Given the description of an element on the screen output the (x, y) to click on. 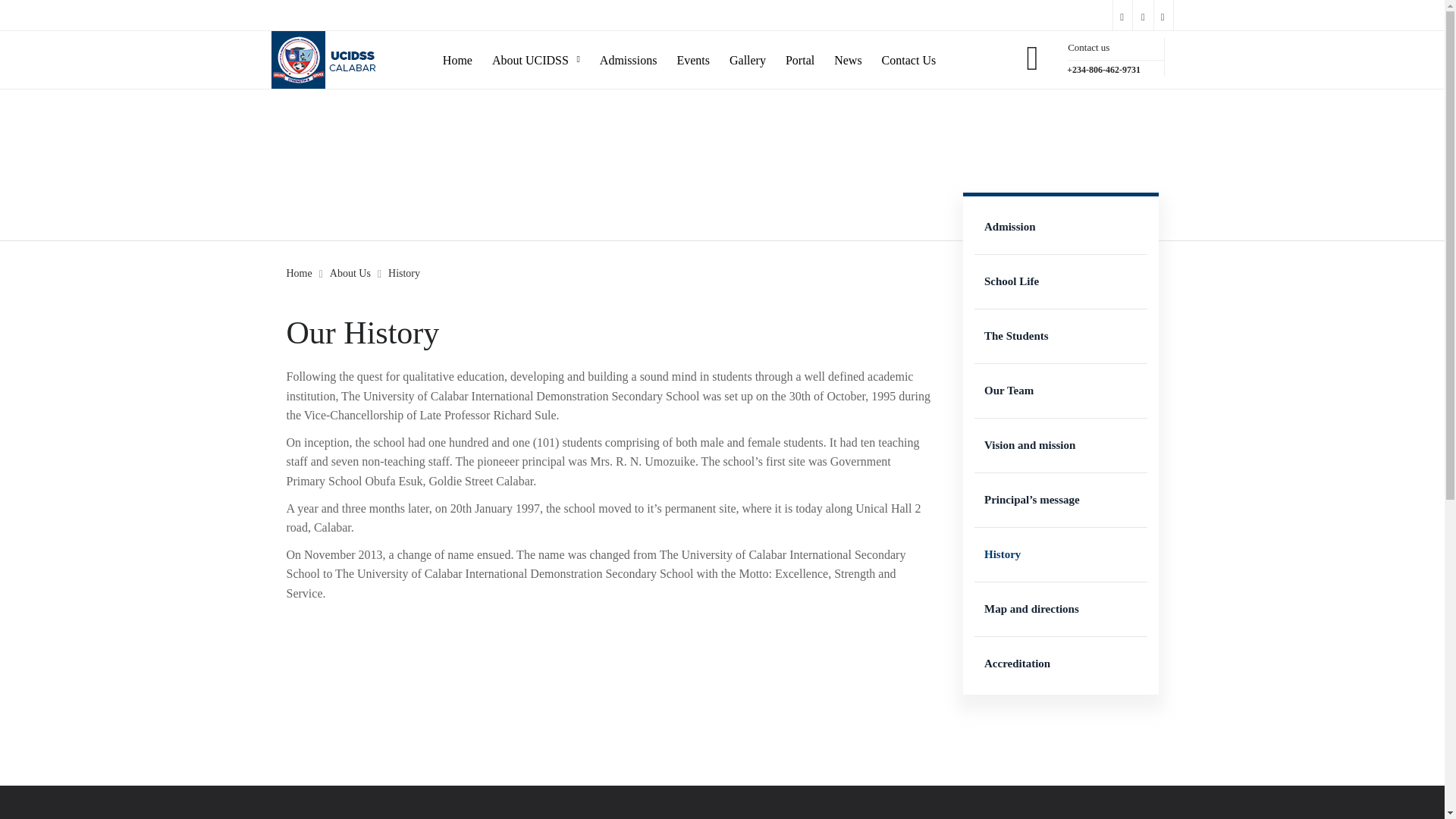
Portal (799, 50)
News (847, 50)
Admissions (628, 50)
Gallery (747, 50)
Events (693, 50)
Admission (1060, 226)
About UCIDSS (535, 50)
Home (299, 273)
The Students (1060, 336)
School Life (1060, 281)
About Us (350, 273)
Our Team (1060, 390)
Home (456, 50)
Contact Us (909, 50)
